Given the description of an element on the screen output the (x, y) to click on. 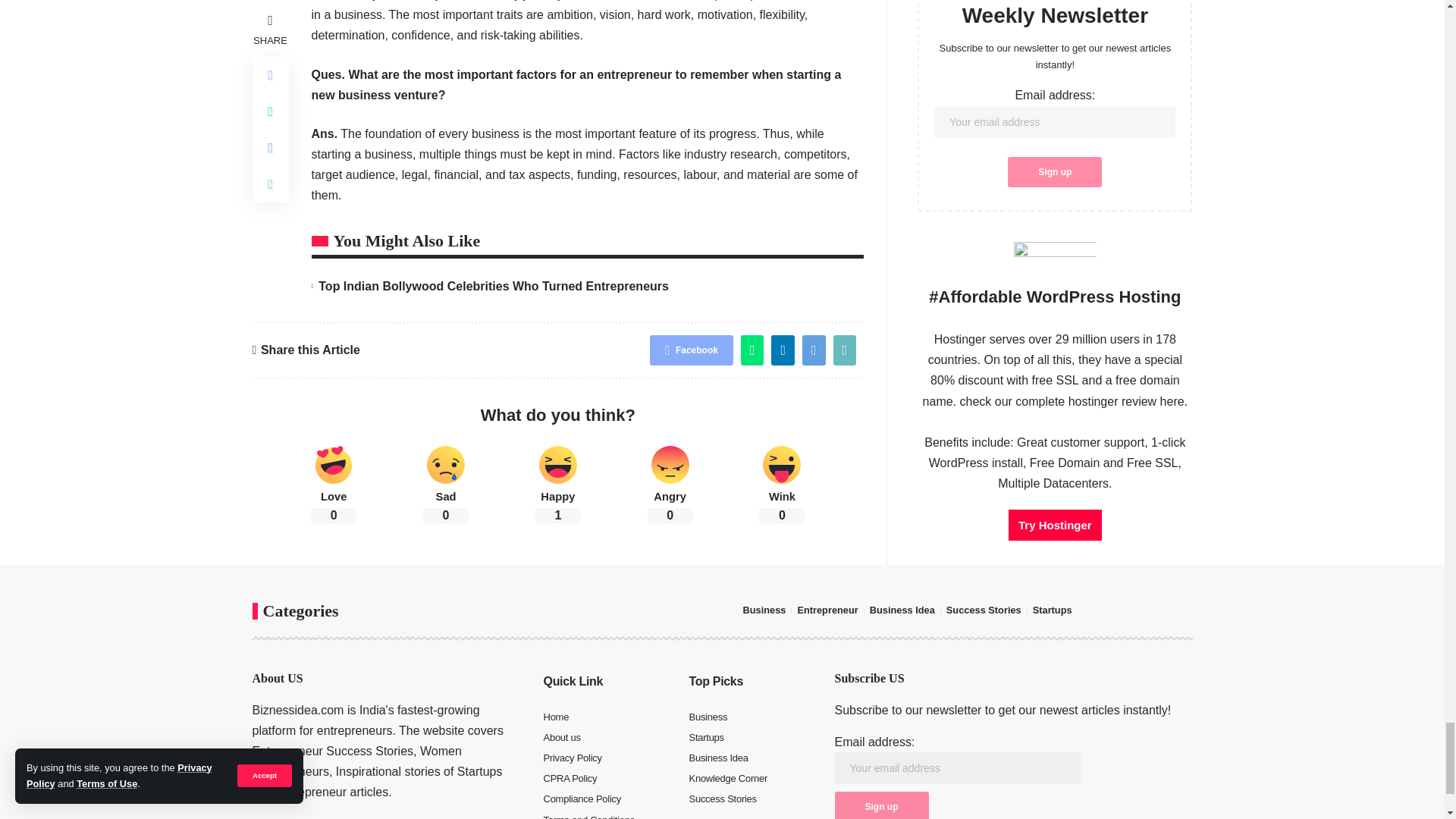
Sign up (881, 805)
